Given the description of an element on the screen output the (x, y) to click on. 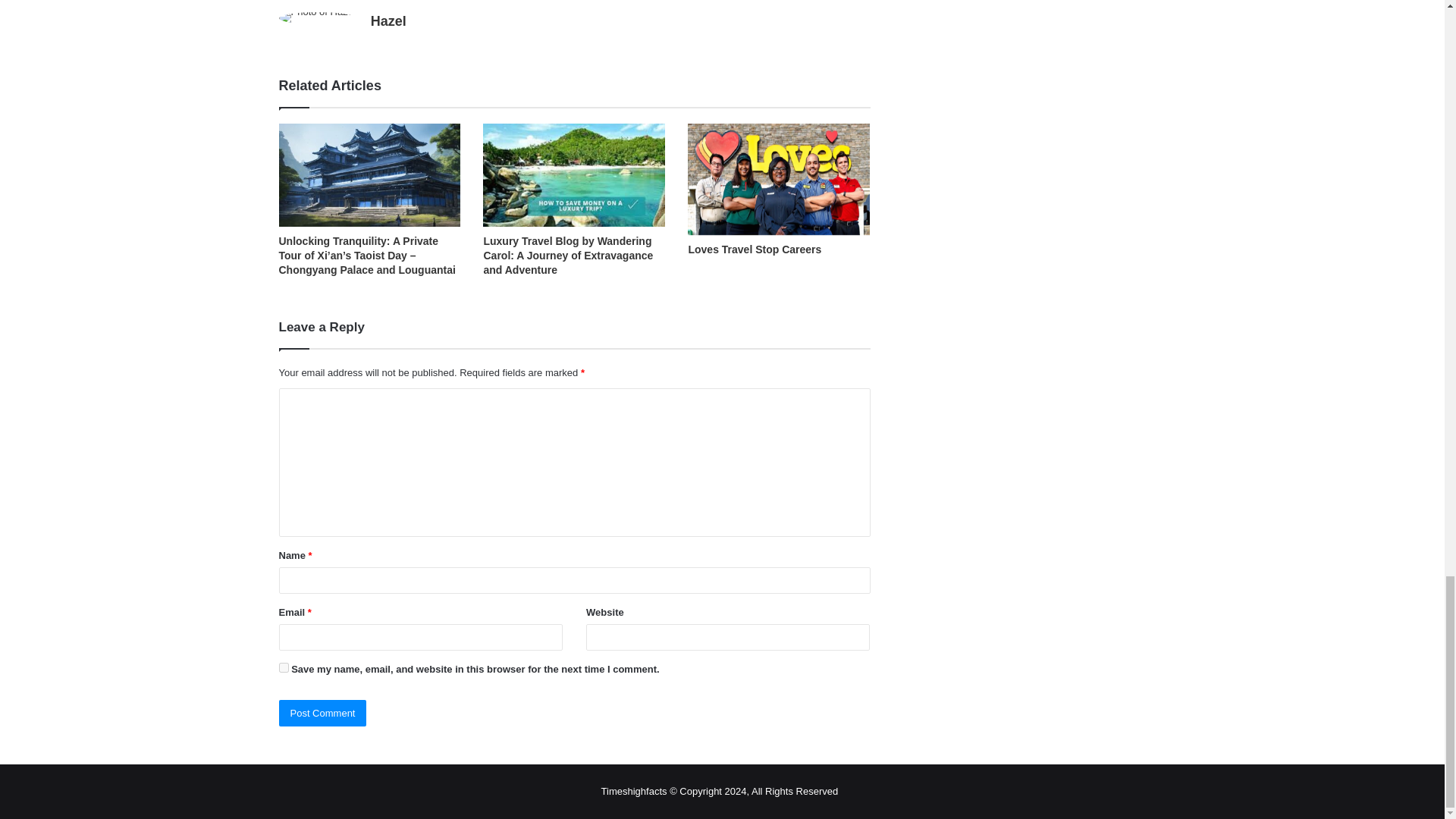
Hazel (388, 20)
Post Comment (322, 713)
yes (283, 667)
